Given the description of an element on the screen output the (x, y) to click on. 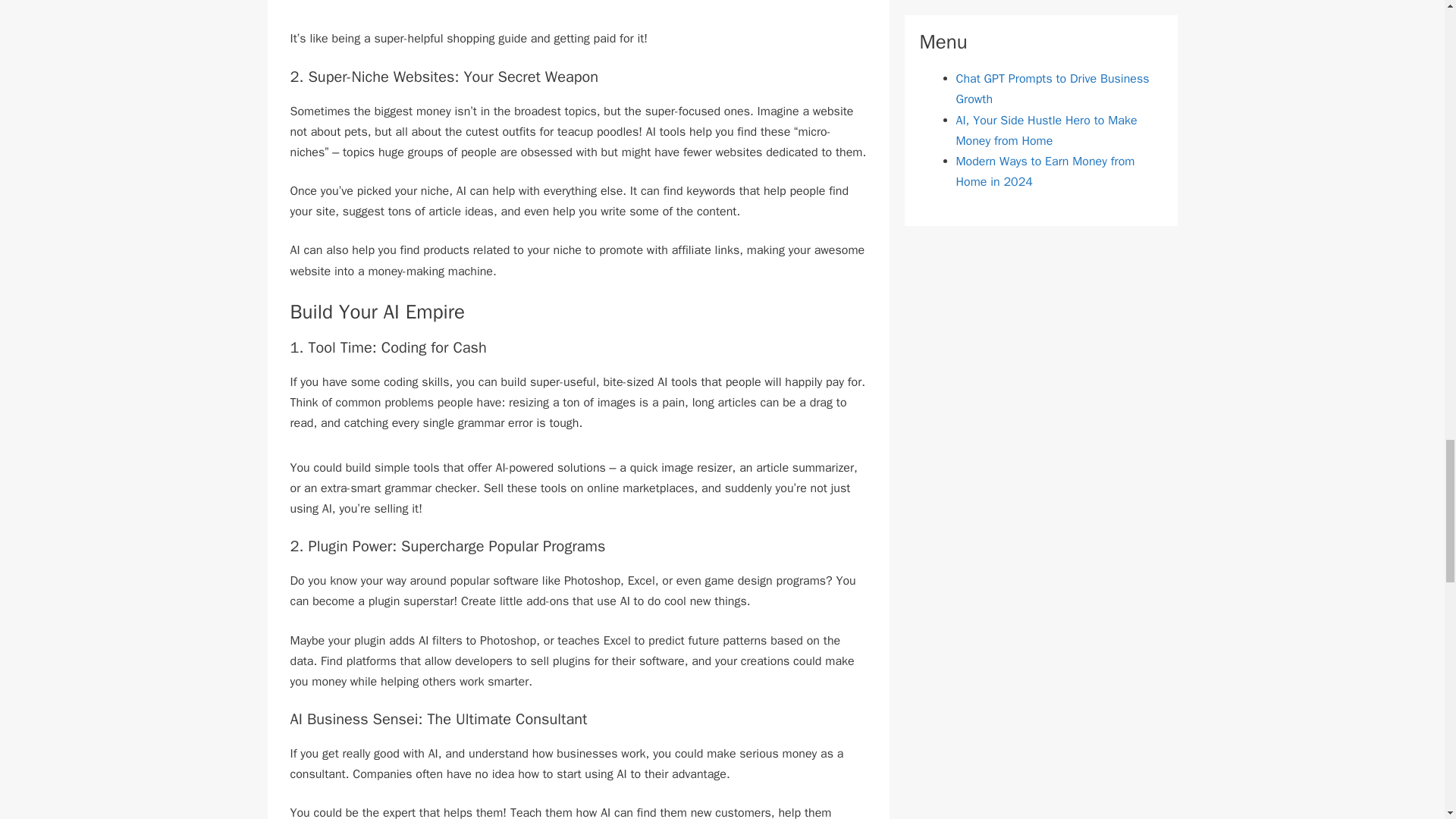
Advertisement (577, 14)
